Given the description of an element on the screen output the (x, y) to click on. 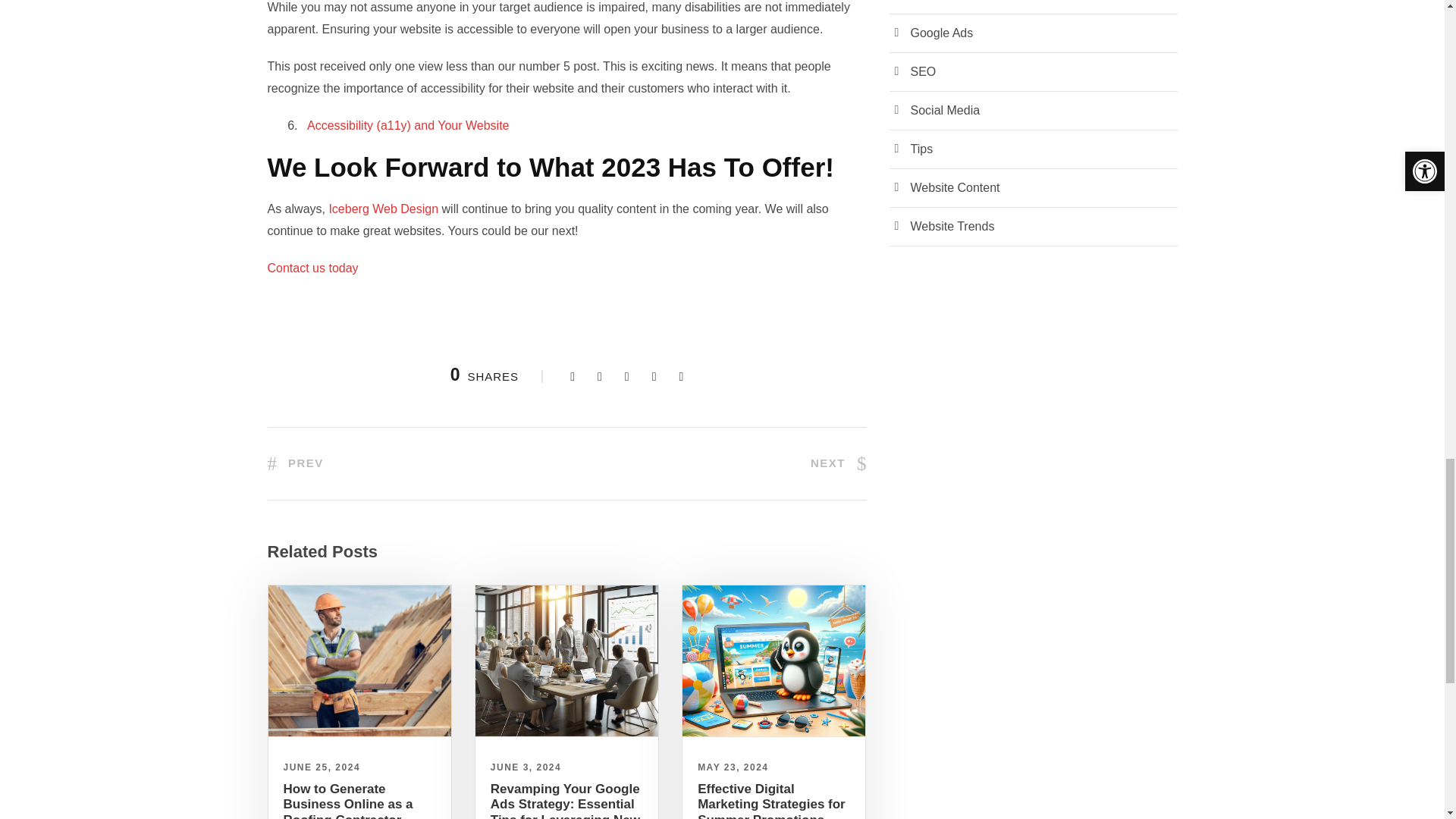
Happy Roofing Contractor (359, 661)
Summer Elements (773, 661)
Google Ads (567, 661)
